Given the description of an element on the screen output the (x, y) to click on. 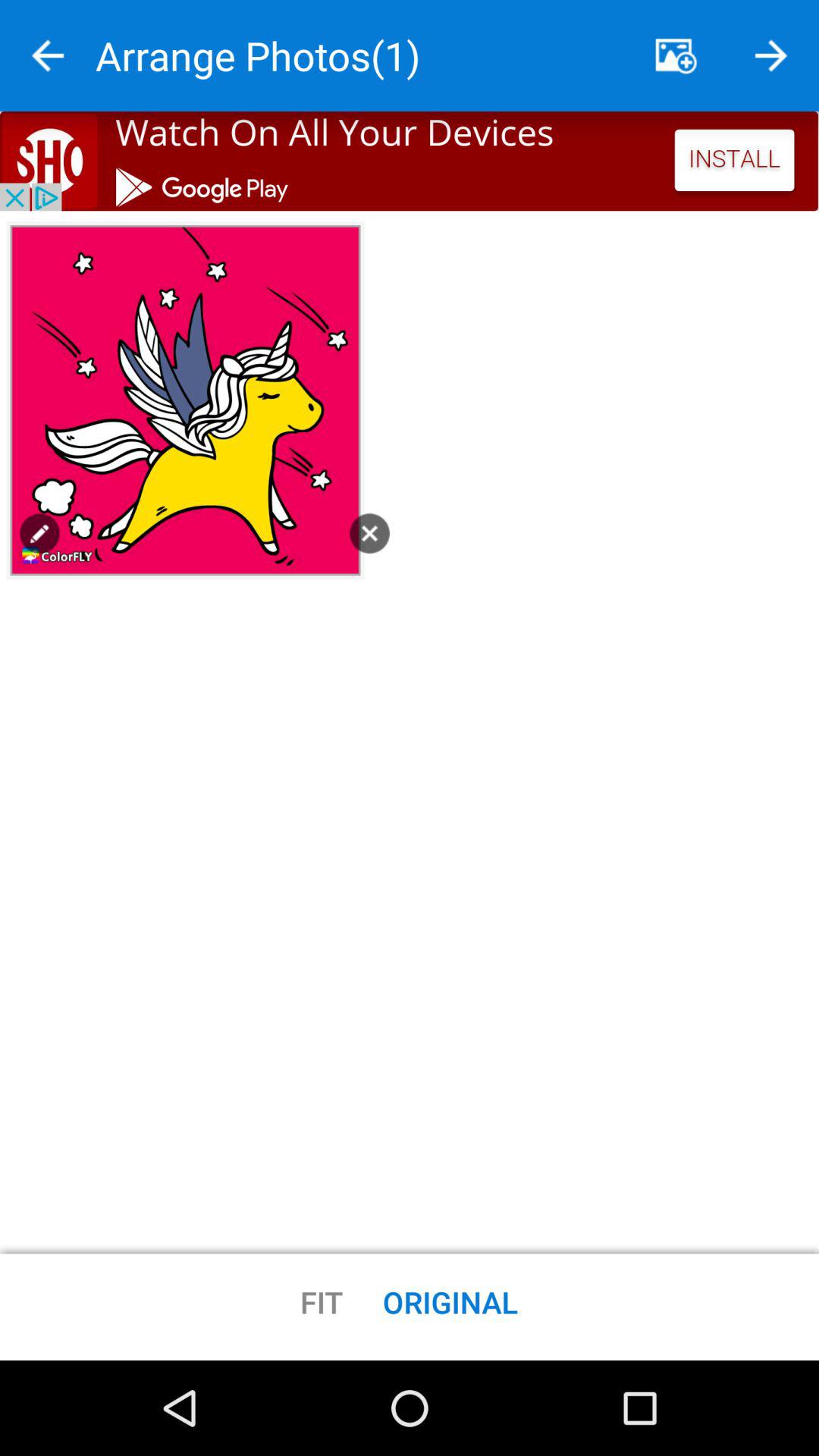
close button (369, 533)
